Given the description of an element on the screen output the (x, y) to click on. 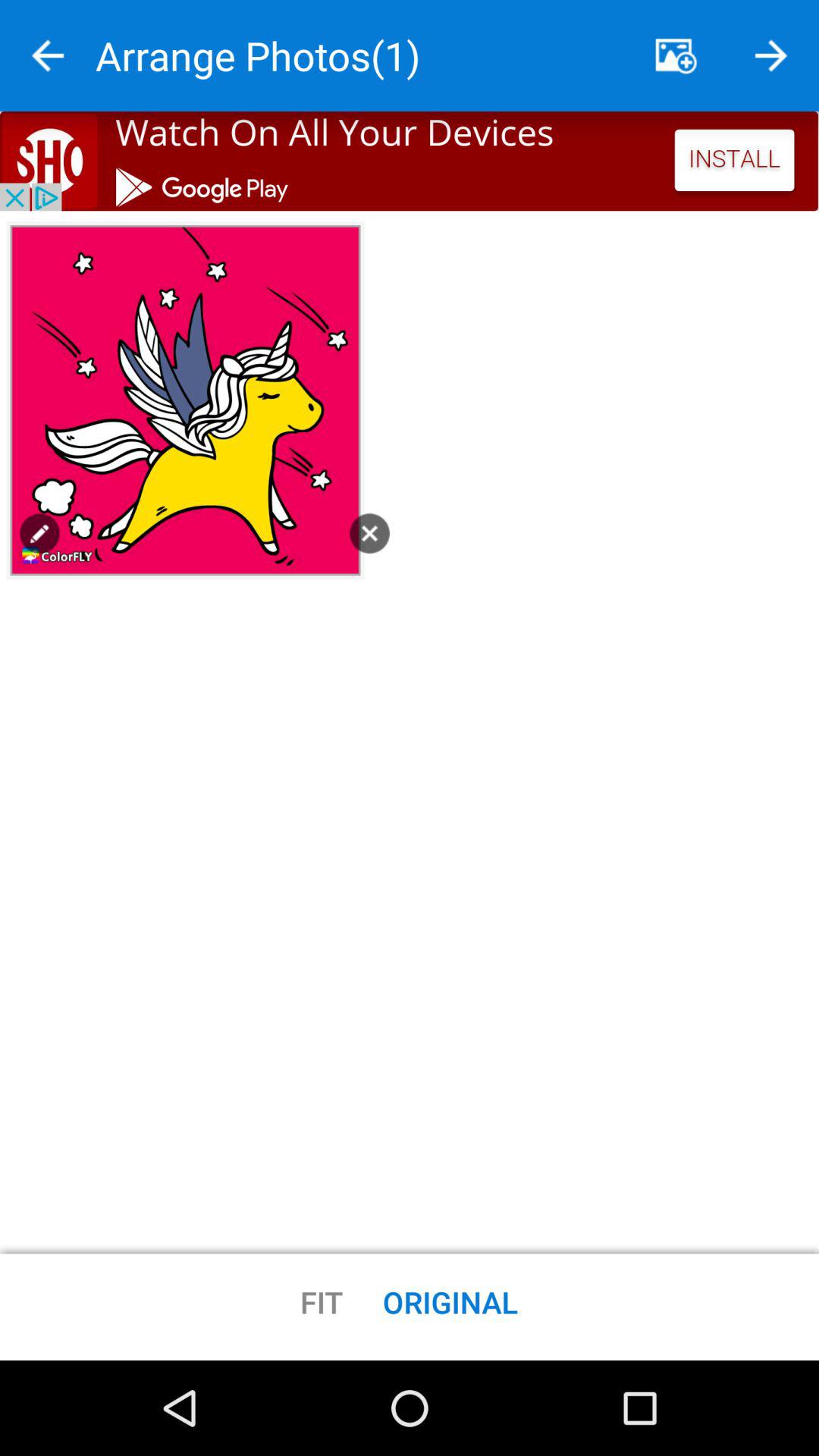
close button (369, 533)
